Given the description of an element on the screen output the (x, y) to click on. 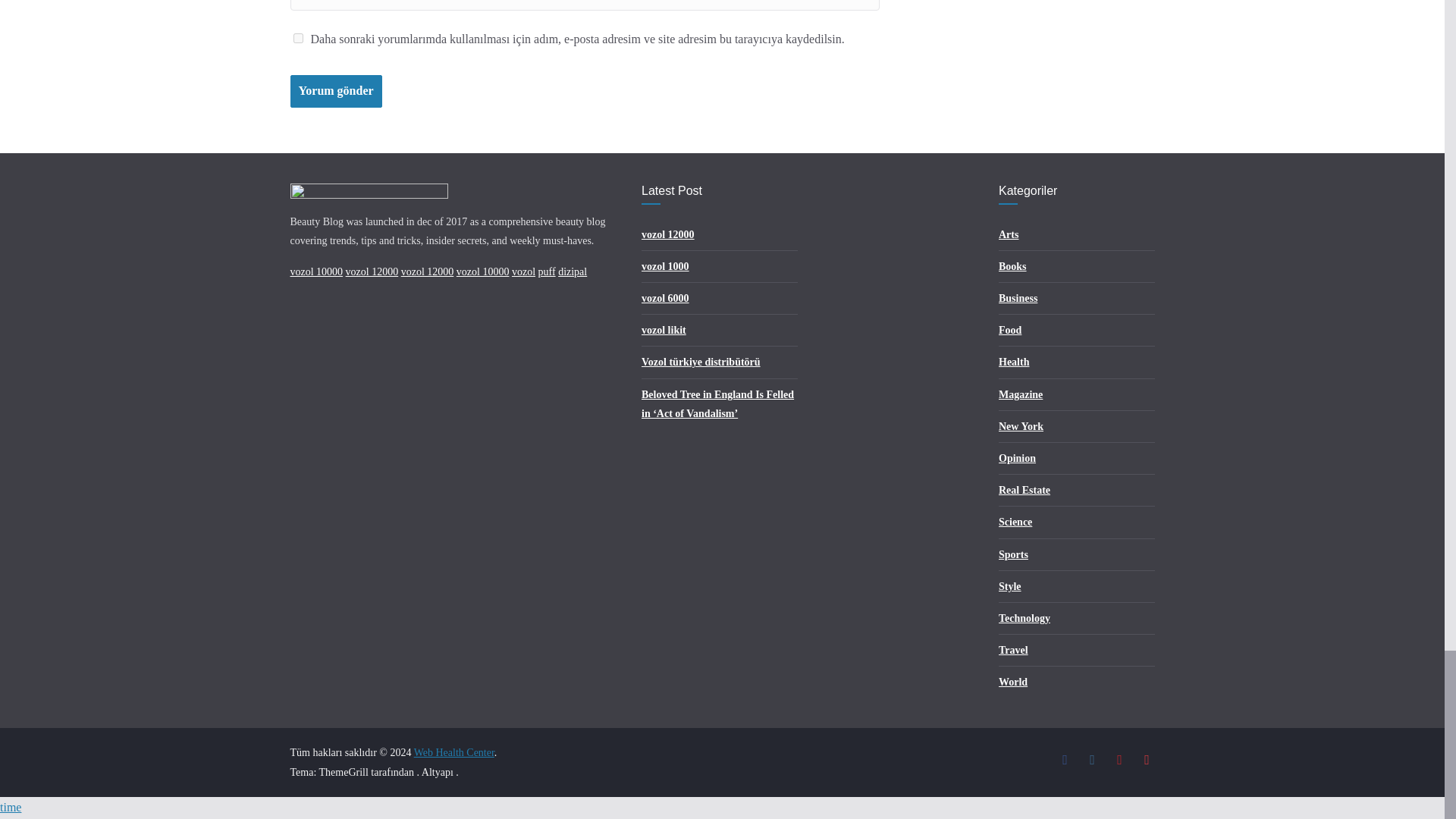
Web Health Center (454, 752)
dizipal (571, 271)
vozol 10000 (315, 271)
time (10, 807)
vozol (523, 271)
yes (297, 38)
vozol 12000 (372, 271)
puff (547, 271)
vozol 12000 (427, 271)
vozol 10000 (483, 271)
